Given the description of an element on the screen output the (x, y) to click on. 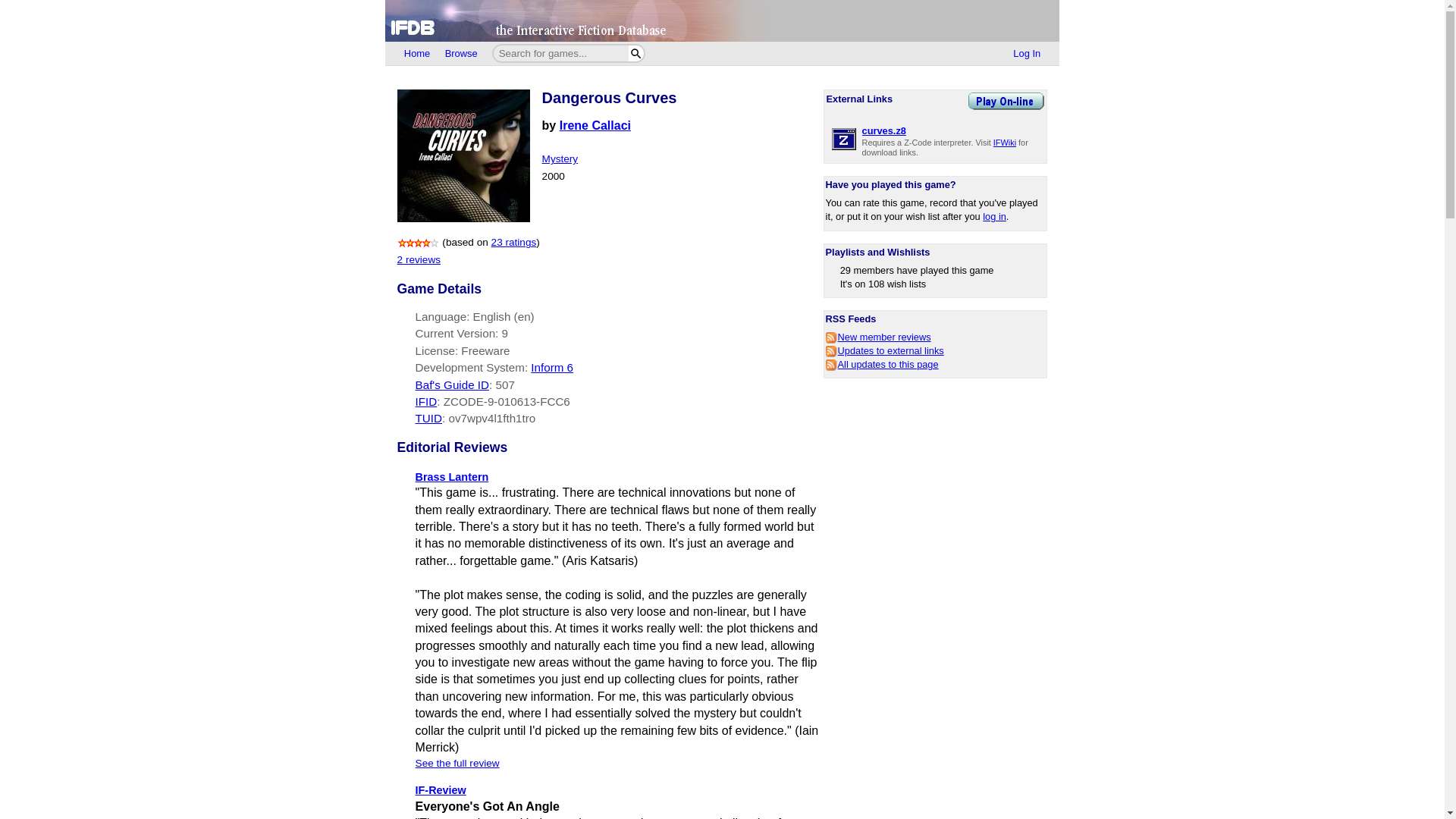
New member reviews (878, 337)
Browse (461, 53)
curves.z8 (883, 130)
IFID (426, 400)
Irene Callaci (594, 124)
It's on 108 wish lists (883, 283)
Mystery (559, 158)
Log In (1027, 53)
TUID (428, 418)
507 (504, 384)
Go to the Baf's Guide listing for this game (504, 384)
Baf's Guide ID (451, 384)
Updates to external links (884, 350)
log in (994, 215)
